Given the description of an element on the screen output the (x, y) to click on. 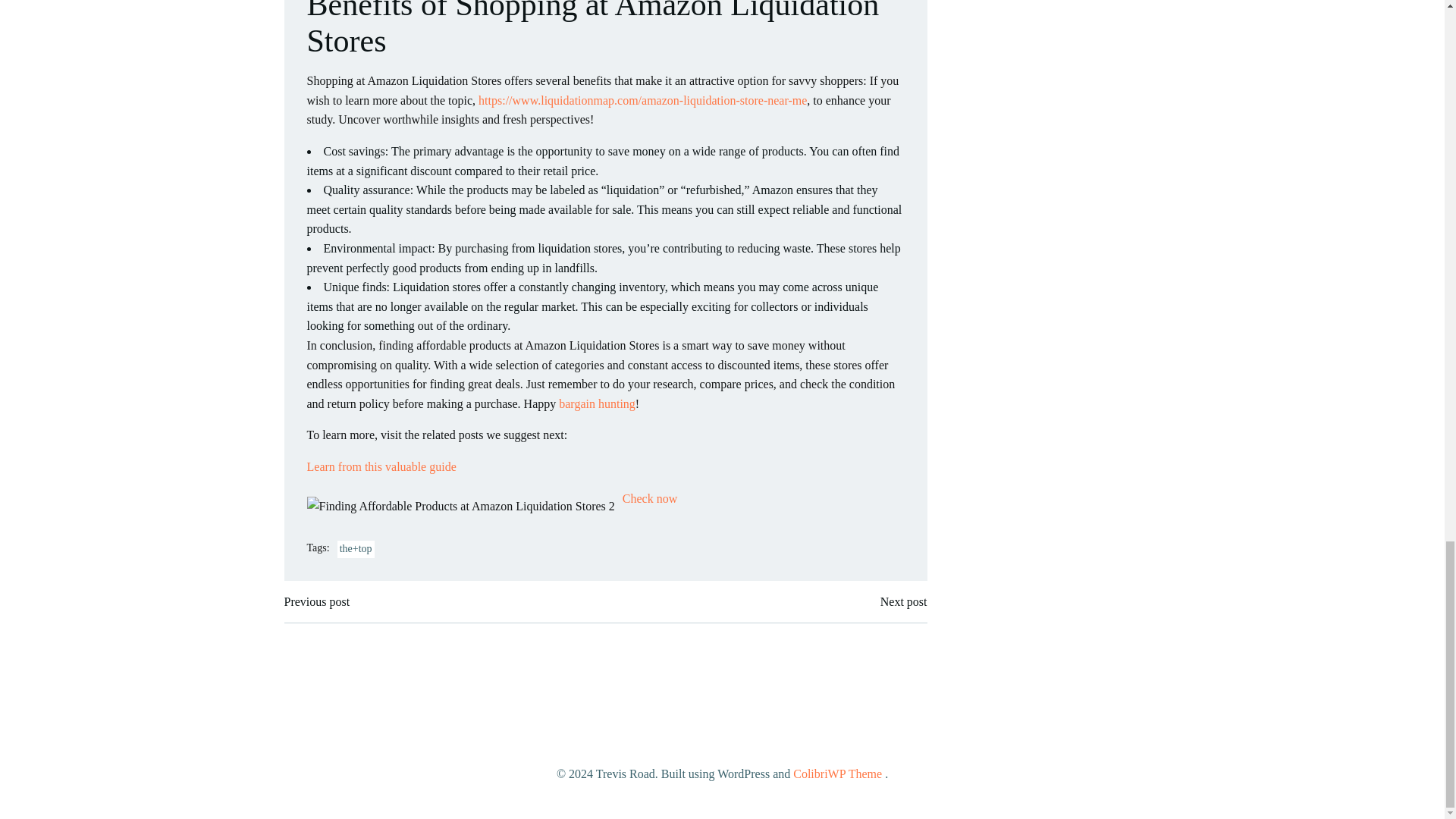
Next post (903, 601)
ColibriWP Theme (837, 773)
bargain hunting (596, 403)
Check now (650, 498)
Previous post (316, 601)
Learn from this valuable guide (380, 466)
